Given the description of an element on the screen output the (x, y) to click on. 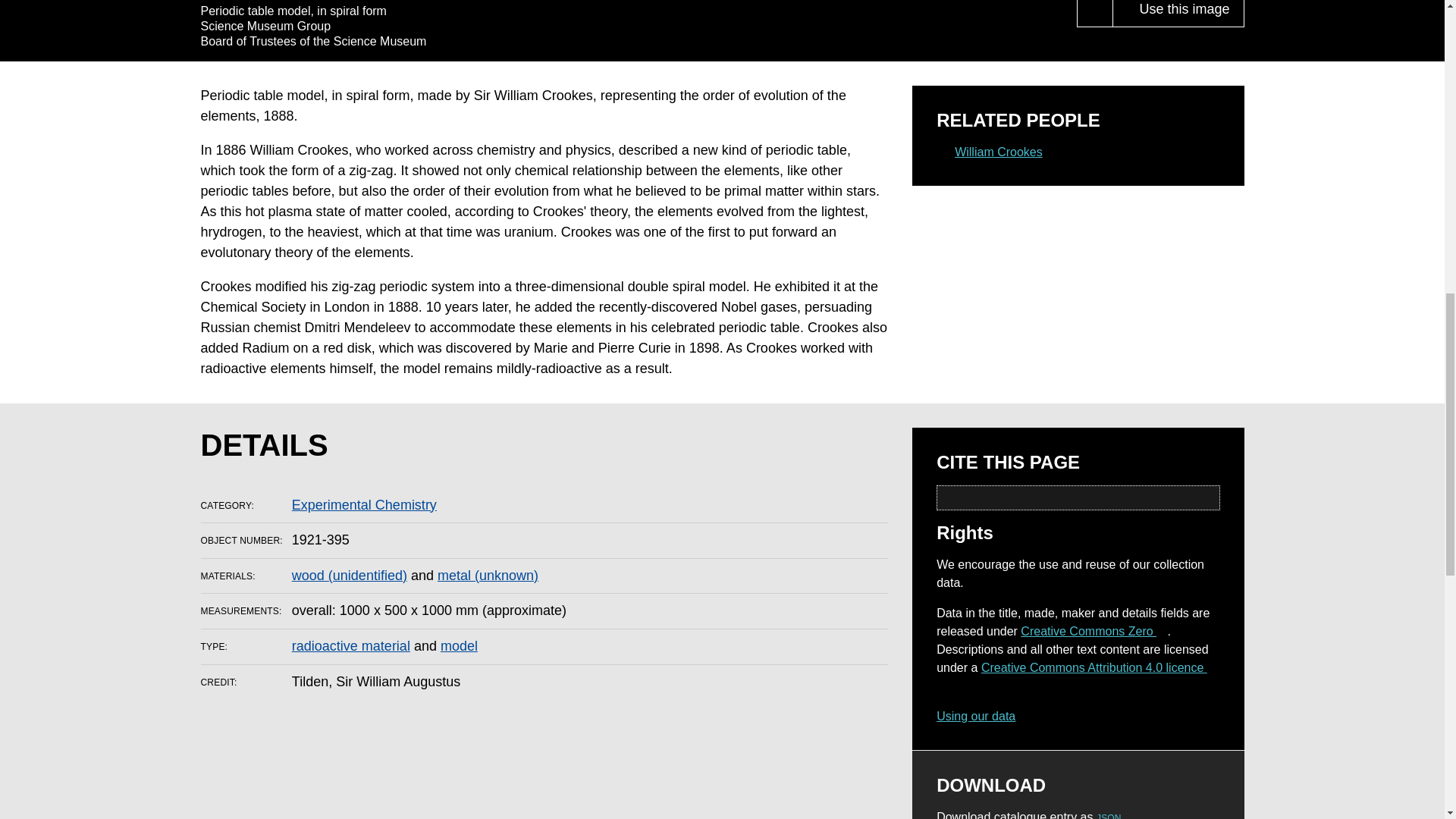
Javascript Object Notation (1108, 816)
Copy citation text (1207, 498)
Use this image (1177, 13)
